Given the description of an element on the screen output the (x, y) to click on. 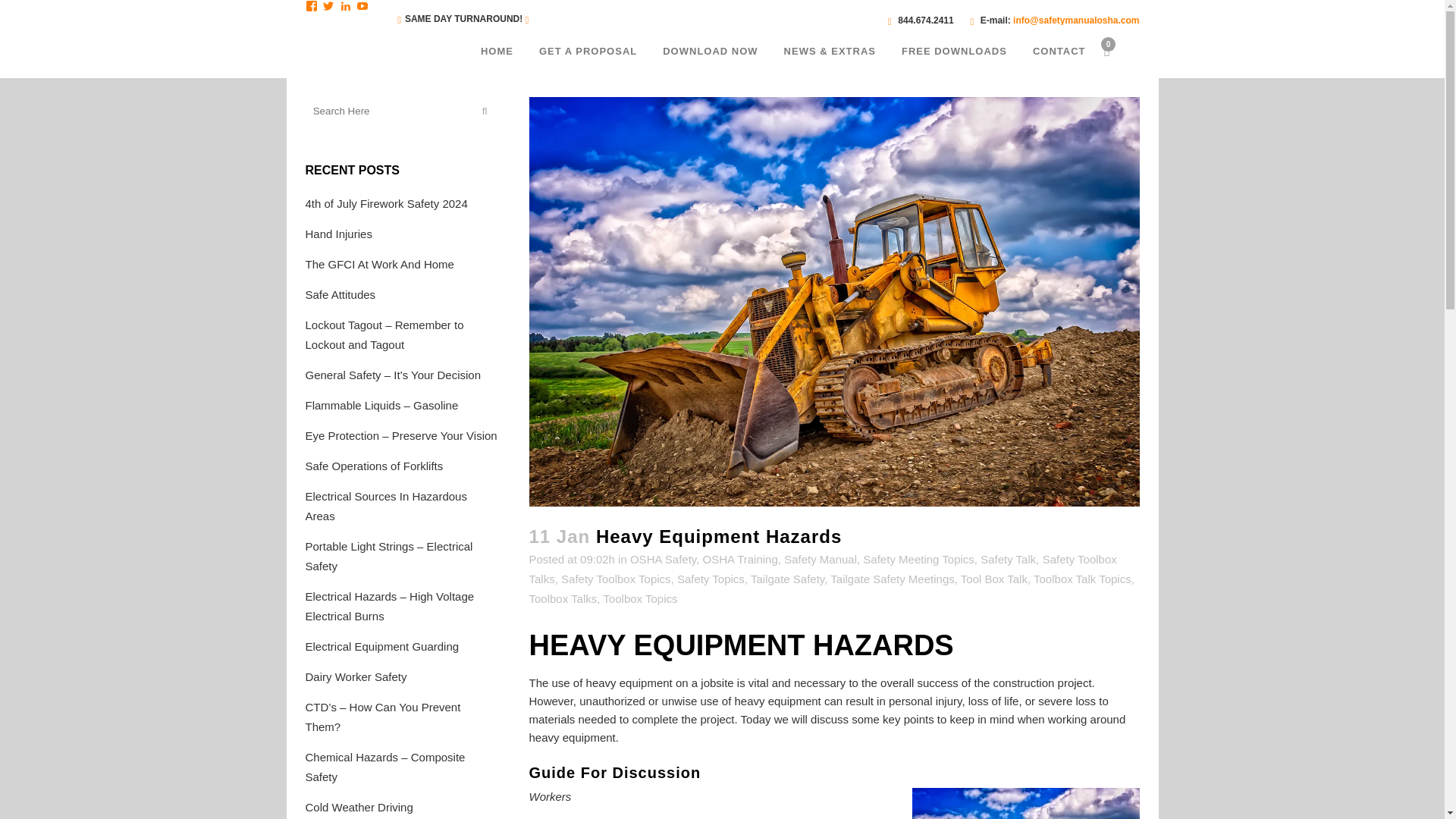
HOME (496, 51)
CONTACT (1059, 51)
LinkedIn (345, 6)
DOWNLOAD NOW (709, 51)
heavy equipment hazards (1024, 803)
YouTube (362, 6)
GET A PROPOSAL (587, 51)
FREE DOWNLOADS (954, 51)
